Given the description of an element on the screen output the (x, y) to click on. 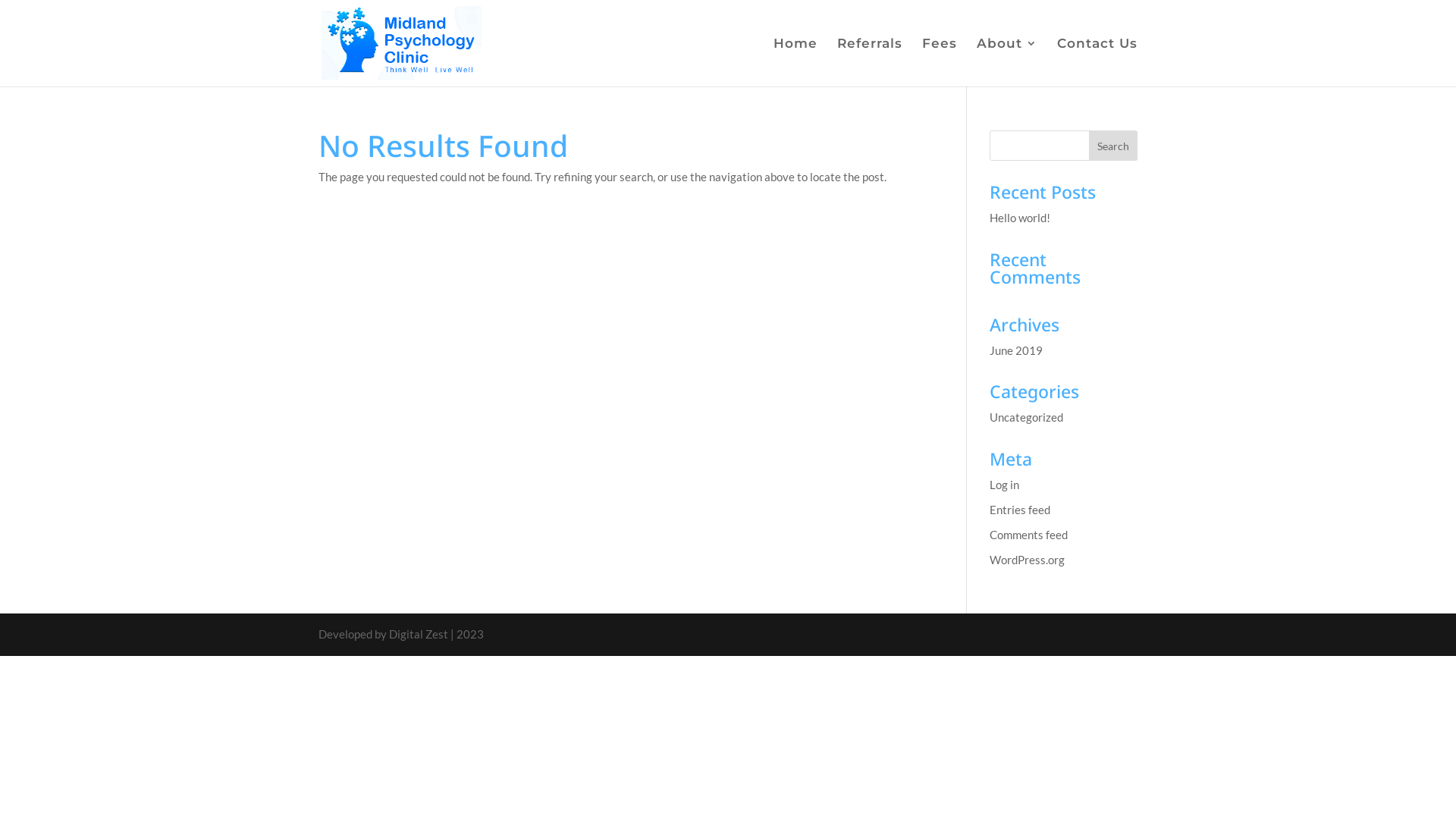
WordPress.org Element type: text (1026, 558)
Hello world! Element type: text (1019, 217)
Uncategorized Element type: text (1026, 416)
June 2019 Element type: text (1015, 349)
Entries feed Element type: text (1019, 508)
Fees Element type: text (939, 61)
Comments feed Element type: text (1028, 534)
Referrals Element type: text (869, 61)
Contact Us Element type: text (1097, 61)
Search Element type: text (1112, 145)
Home Element type: text (795, 61)
Log in Element type: text (1004, 484)
About Element type: text (1006, 61)
